Given the description of an element on the screen output the (x, y) to click on. 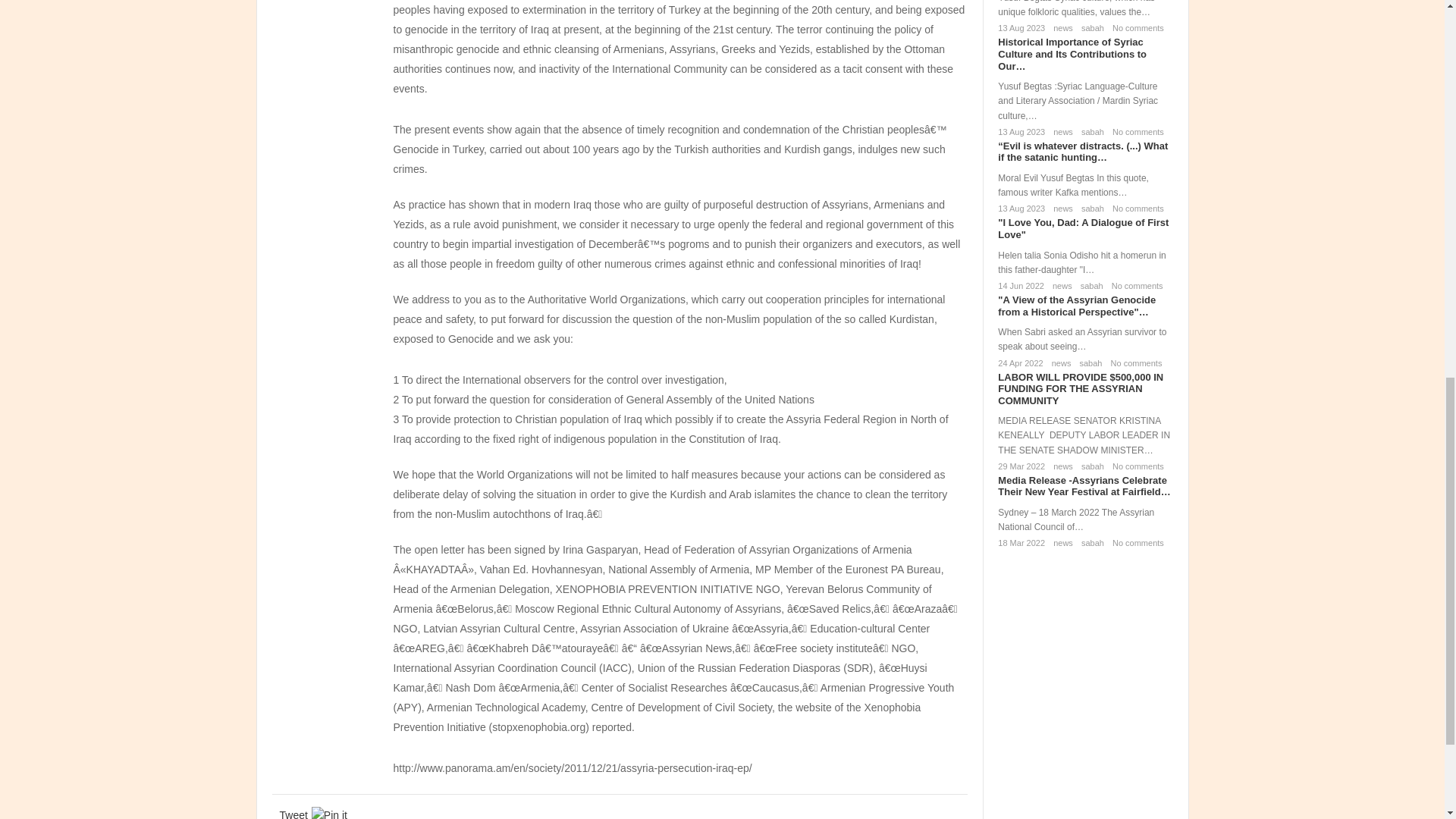
Pin it (329, 812)
Tweet (293, 812)
